Given the description of an element on the screen output the (x, y) to click on. 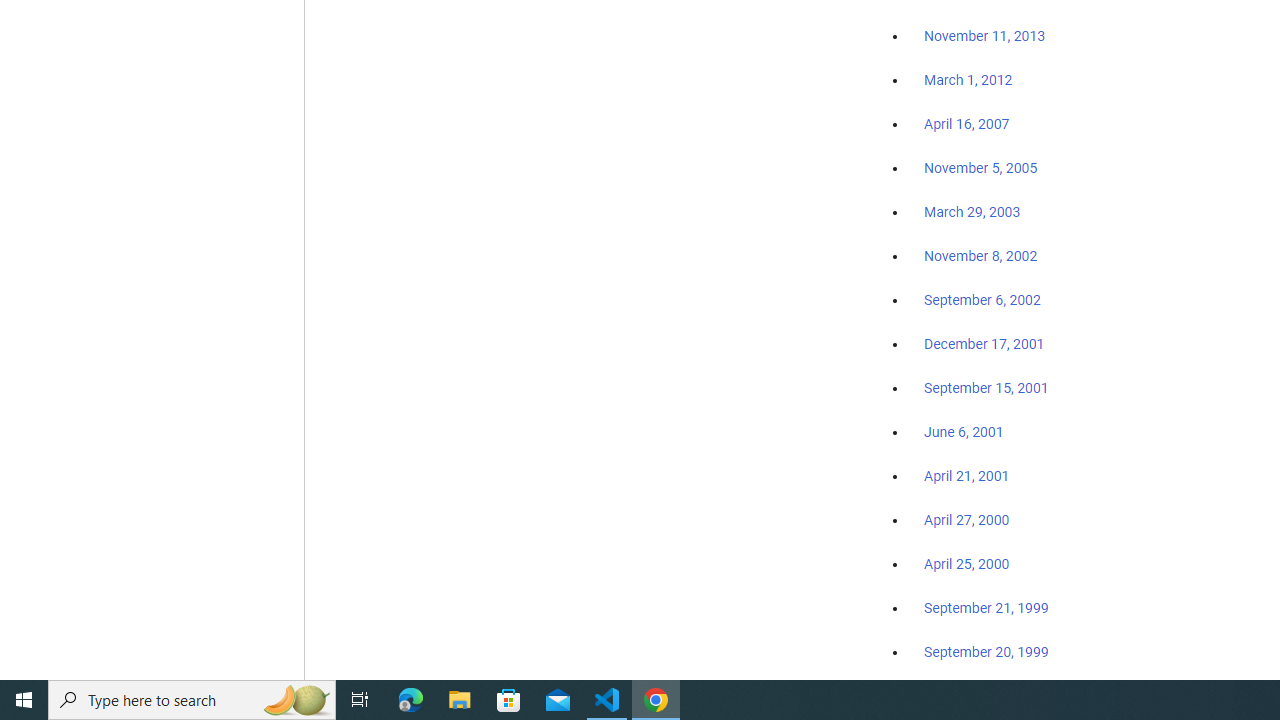
April 25, 2000 (966, 564)
June 6, 2001 (963, 431)
April 27, 2000 (966, 520)
September 21, 1999 (986, 608)
November 8, 2002 (981, 255)
April 16, 2007 (966, 124)
September 20, 1999 (986, 651)
November 11, 2013 (984, 37)
March 1, 2012 (968, 81)
November 5, 2005 (981, 168)
September 6, 2002 (982, 299)
March 29, 2003 (972, 212)
September 15, 2001 (986, 387)
December 17, 2001 (984, 343)
April 21, 2001 (966, 476)
